Given the description of an element on the screen output the (x, y) to click on. 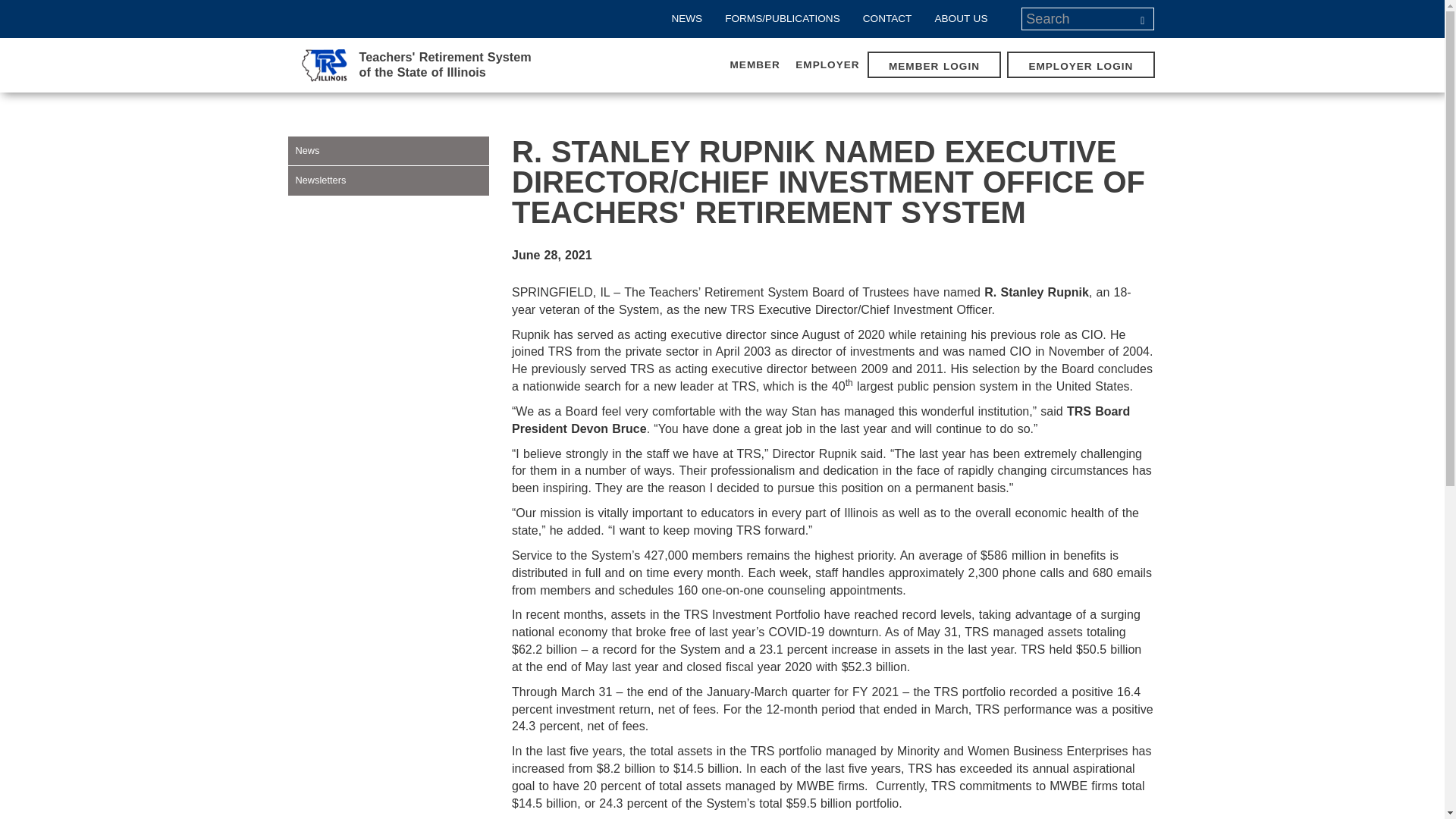
News (388, 150)
EMPLOYER LOGIN (1080, 66)
Newsletters (388, 180)
Search (1142, 18)
MEMBER (754, 64)
ABOUT US (416, 63)
Skip to main content (960, 18)
EMPLOYER (10, 2)
Home (827, 64)
MEMBER LOGIN (416, 63)
CONTACT (933, 66)
Enter the terms you wish to search for. (887, 18)
NEWS (1078, 18)
